Given the description of an element on the screen output the (x, y) to click on. 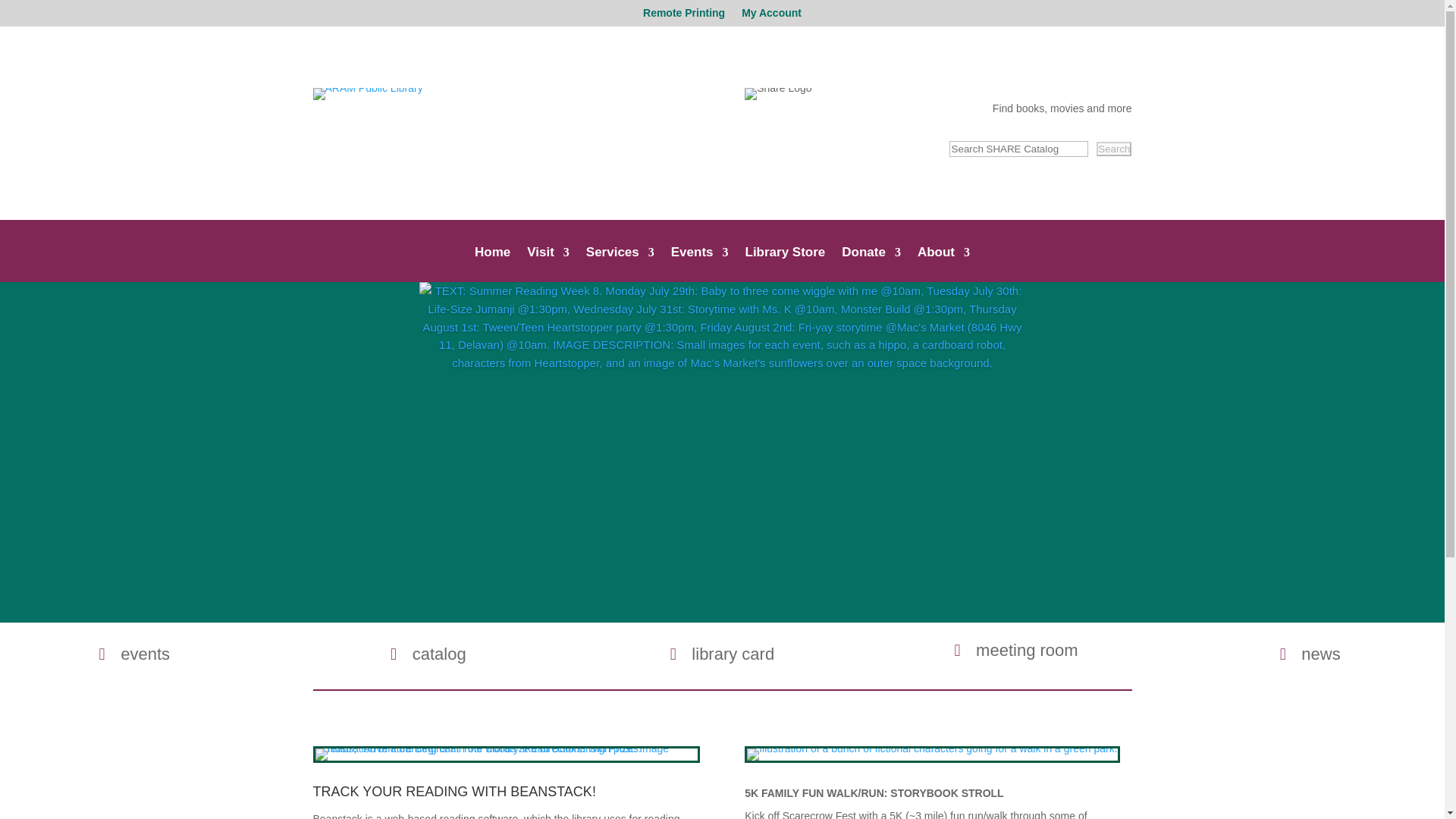
cropped-Aram-web-logo (367, 93)
About (943, 263)
Search (1113, 148)
Search (1113, 148)
events (133, 653)
24 summer reading front page (506, 754)
Services (619, 263)
Enterprise searchbox: (1018, 148)
Visit (548, 263)
Home (492, 263)
Library Store (784, 263)
storybook stroll copy (931, 754)
share-logo (777, 93)
Events (700, 263)
Remote Printing (684, 16)
